Given the description of an element on the screen output the (x, y) to click on. 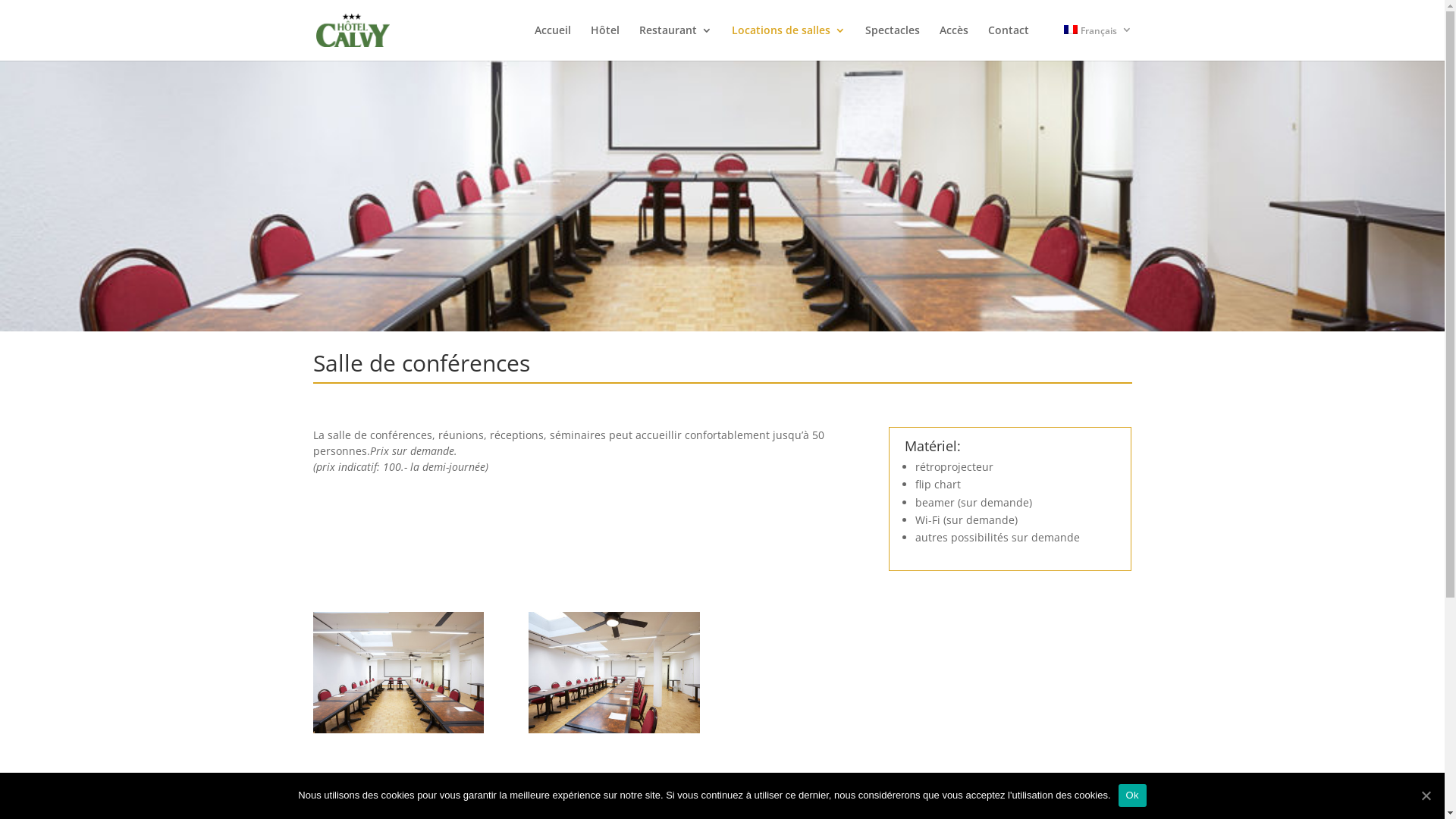
Ok Element type: text (1132, 795)
Contact Element type: text (1007, 42)
Accueil Element type: text (551, 42)
home-salle-conf Element type: hover (613, 728)
Locations de salles Element type: text (787, 42)
Restaurant Element type: text (674, 42)
Spectacles Element type: text (891, 42)
